Given the description of an element on the screen output the (x, y) to click on. 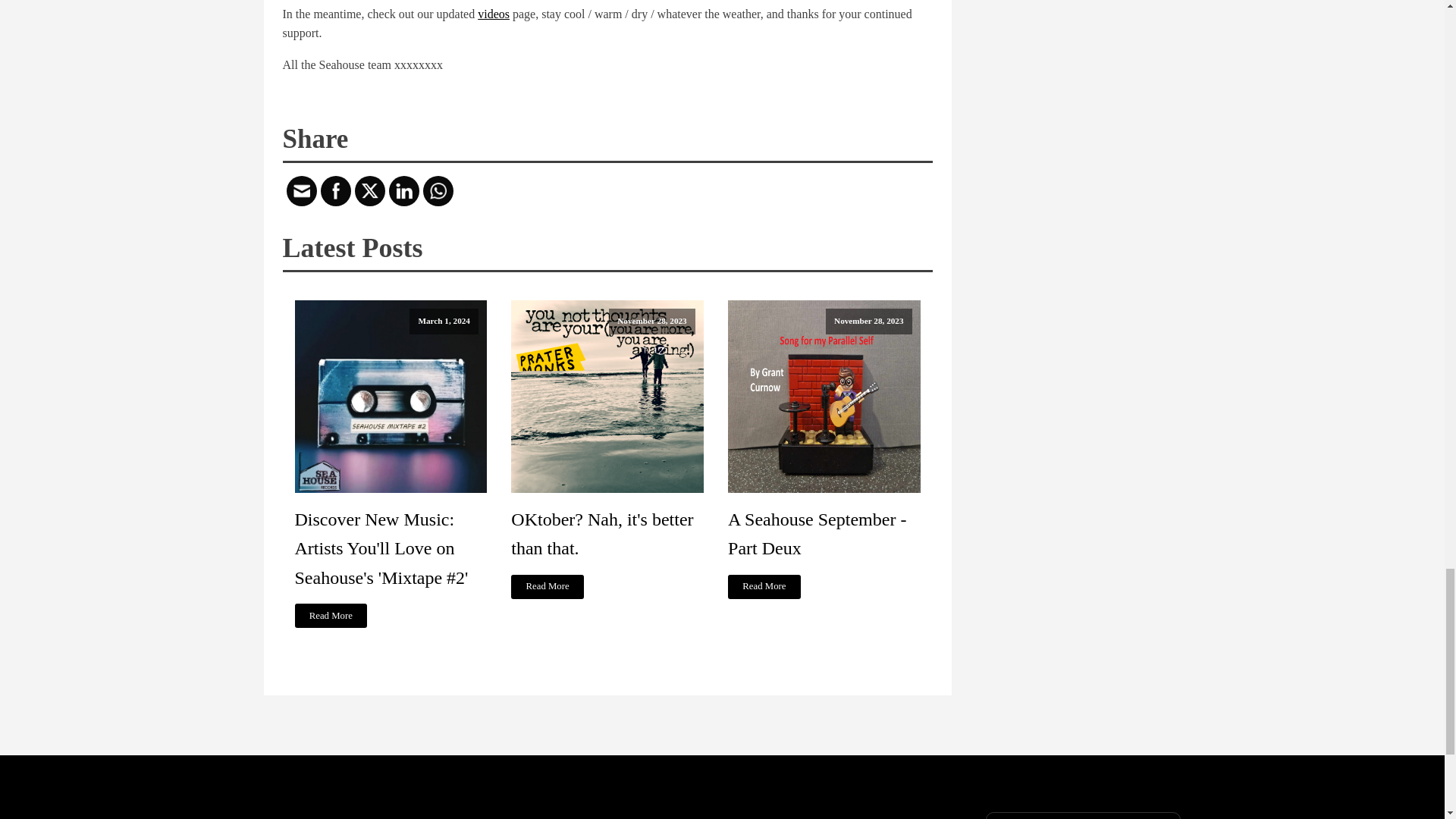
WhatsApp (437, 190)
videos (493, 13)
LinkedIn (404, 190)
Facebook (335, 190)
Follow by Email (300, 190)
